Given the description of an element on the screen output the (x, y) to click on. 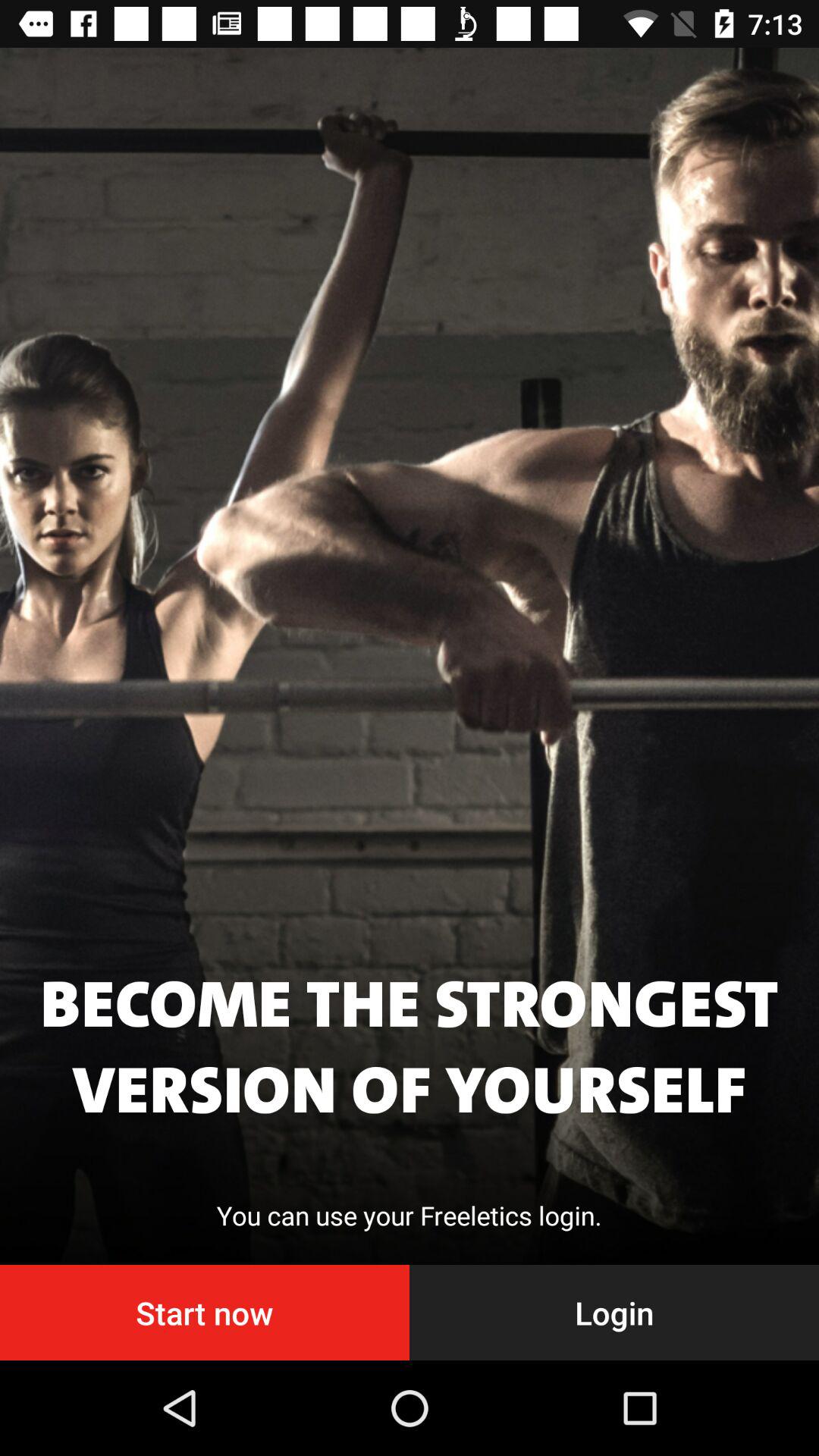
press the item below the you can use item (204, 1312)
